Given the description of an element on the screen output the (x, y) to click on. 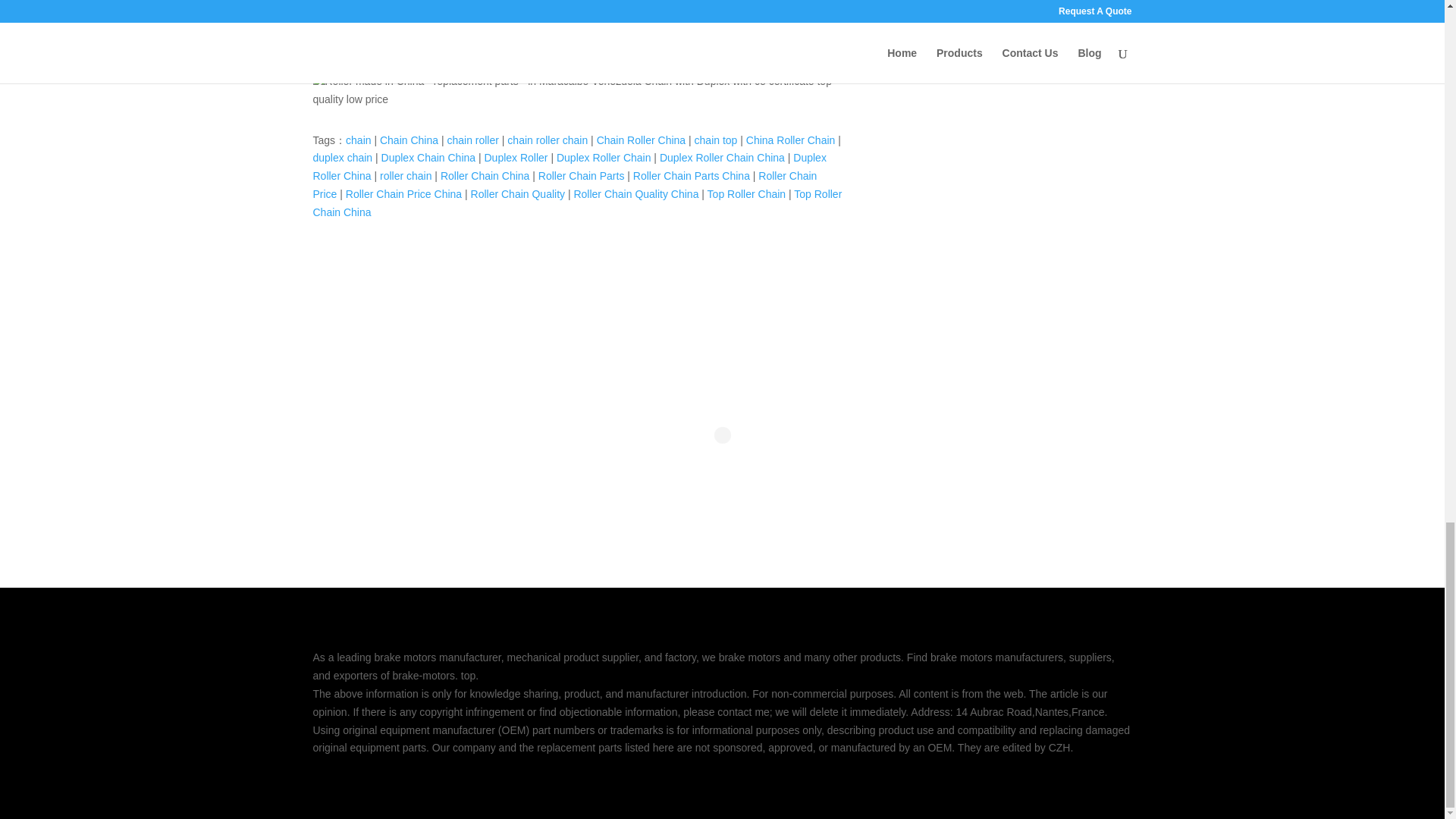
Duplex Roller China (569, 166)
Duplex Roller (515, 157)
China Roller Chain (790, 139)
chain roller (471, 139)
roller chain (405, 175)
Chain China (409, 139)
Roller Chain Parts China (691, 175)
Roller Chain Price (564, 184)
chain (358, 139)
Roller Chain Quality China (635, 193)
